Given the description of an element on the screen output the (x, y) to click on. 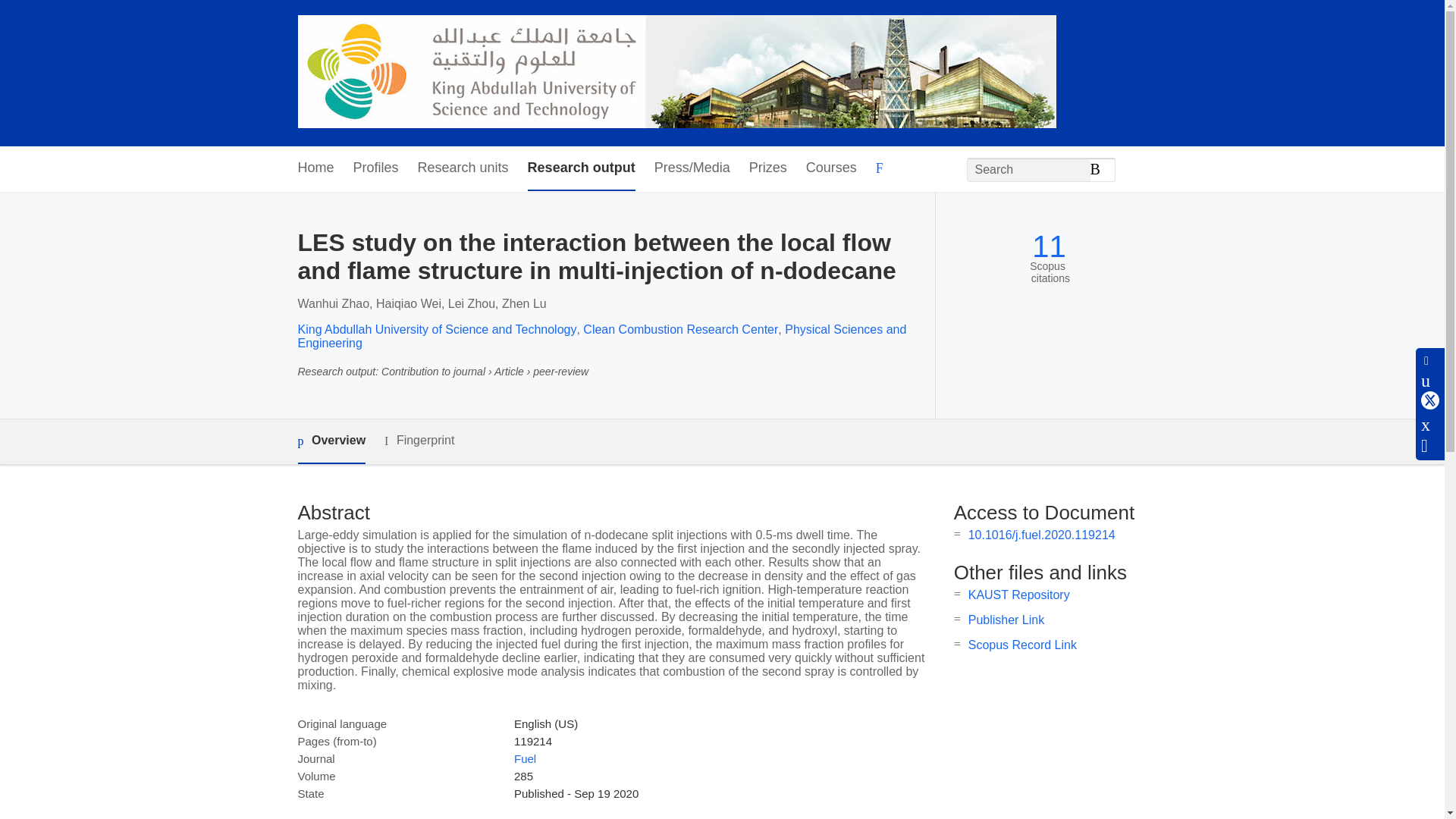
Publisher Link (1006, 619)
Scopus Record Link (1022, 644)
Physical Sciences and Engineering (601, 335)
11 (1048, 246)
Courses (831, 168)
KAUST Repository (1019, 594)
KAUST FACULTY PORTAL Home (676, 73)
Profiles (375, 168)
Research units (462, 168)
